Given the description of an element on the screen output the (x, y) to click on. 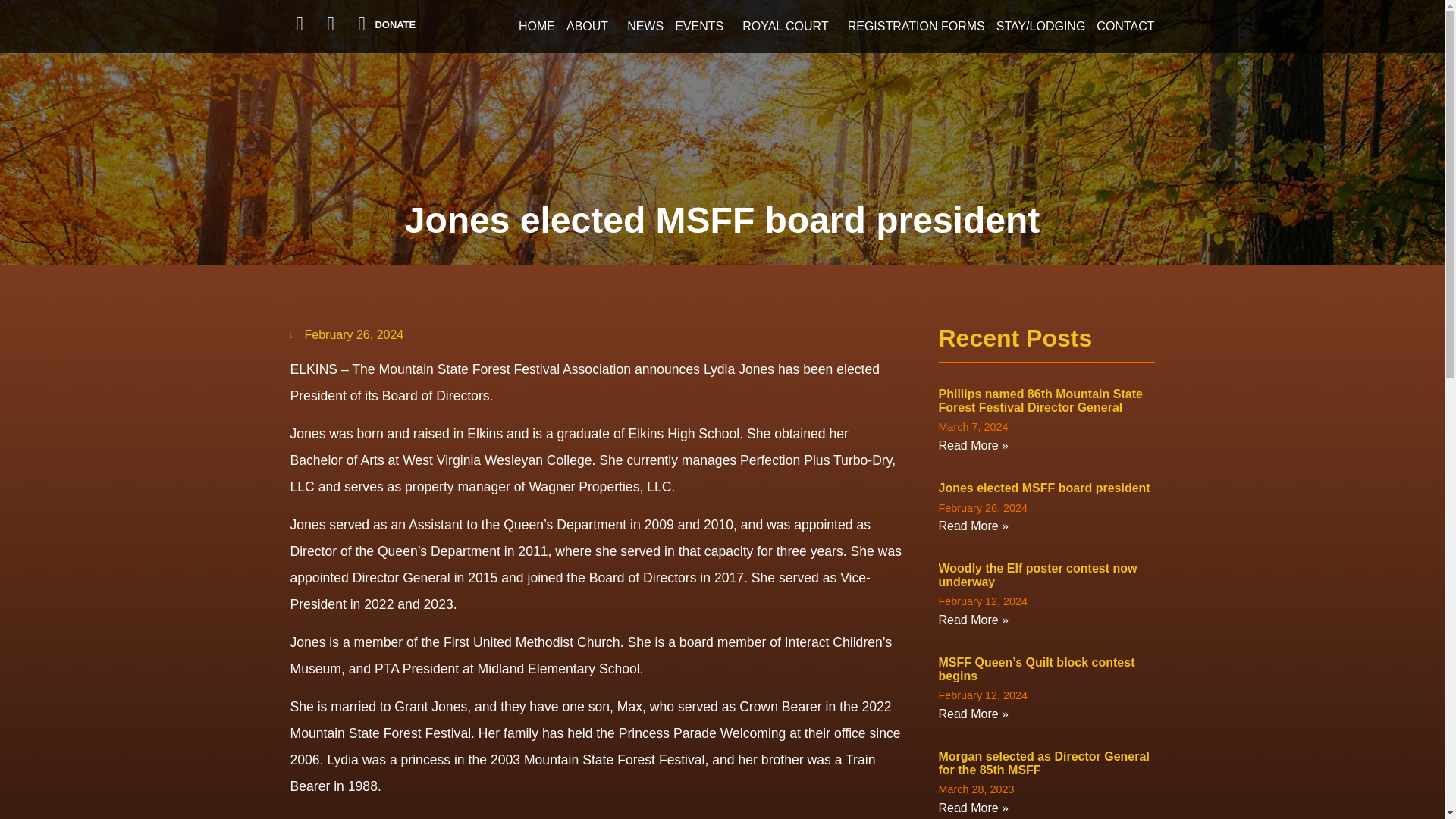
EVENTS (702, 26)
HOME (536, 26)
DONATE (394, 23)
NEWS (645, 26)
ABOUT (590, 26)
ROYAL COURT (788, 26)
